Given the description of an element on the screen output the (x, y) to click on. 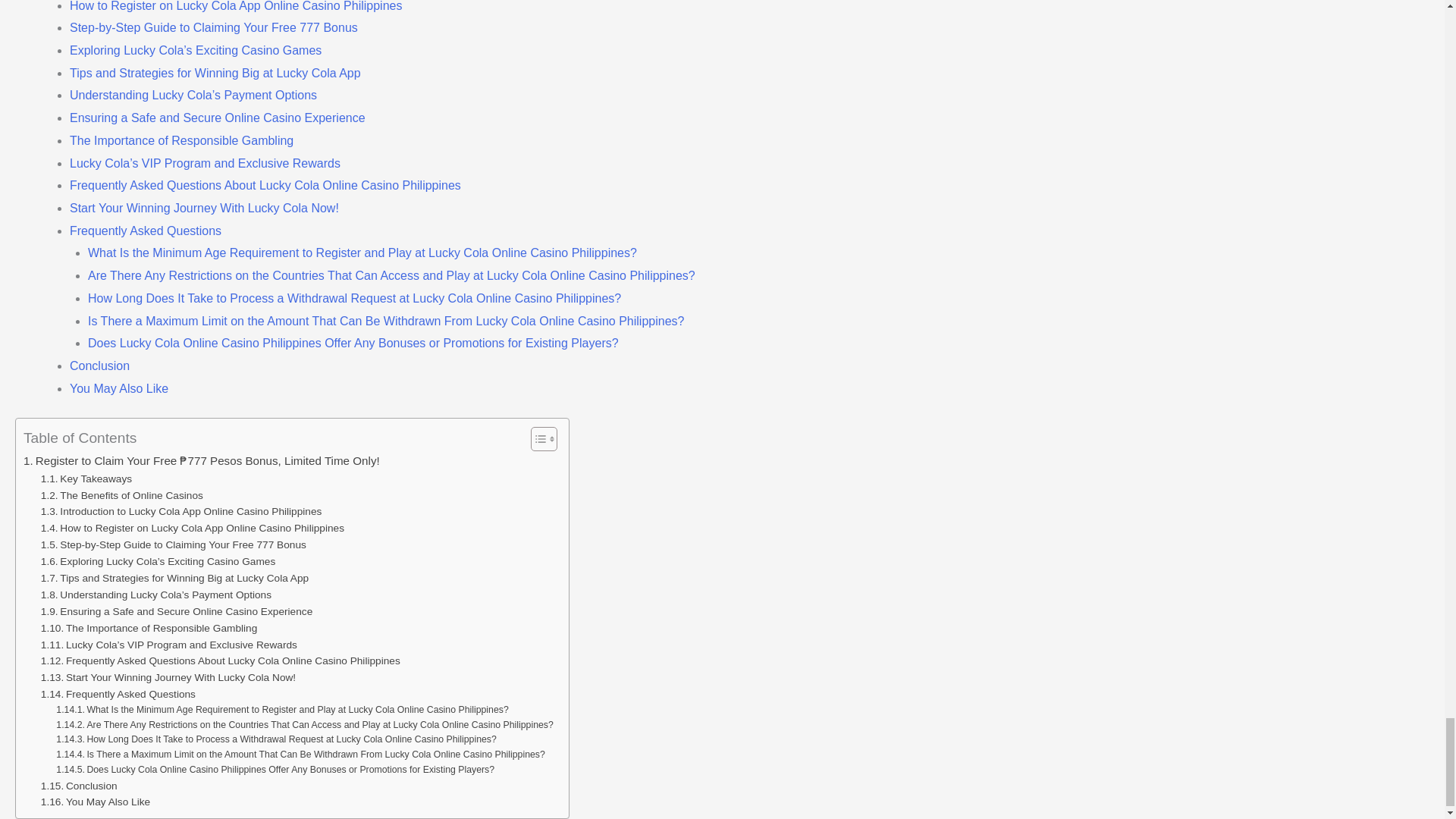
Start Your Winning Journey With Lucky Cola Now! (167, 677)
Ensuring a Safe and Secure Online Casino Experience (176, 611)
Introduction to Lucky Cola App Online Casino Philippines (180, 511)
How to Register on Lucky Cola App Online Casino Philippines (191, 528)
The Importance of Responsible Gambling (148, 628)
The Benefits of Online Casinos (121, 495)
Step-by-Step Guide to Claiming Your Free 777 Bonus (172, 545)
Key Takeaways (86, 478)
Tips and Strategies for Winning Big at Lucky Cola App (174, 578)
